Given the description of an element on the screen output the (x, y) to click on. 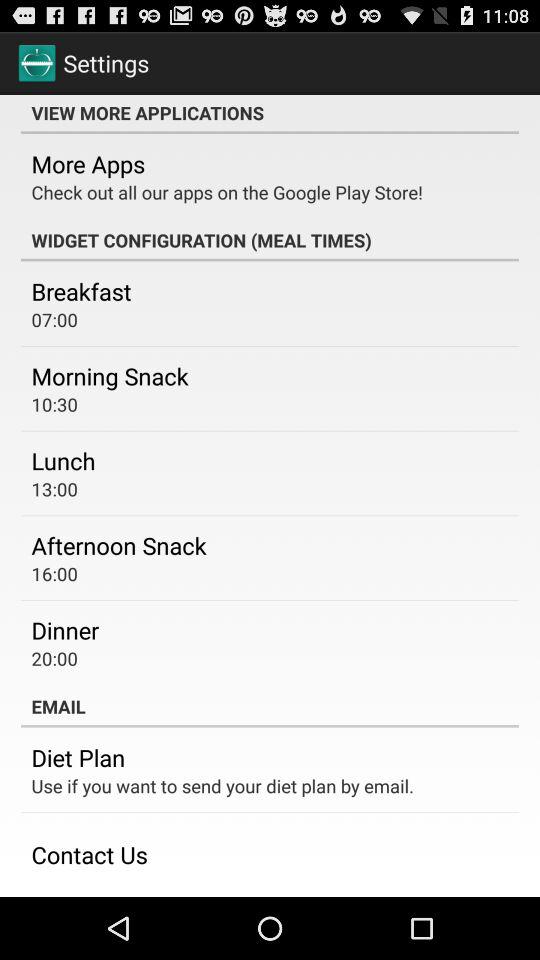
press item below check out all app (270, 239)
